Given the description of an element on the screen output the (x, y) to click on. 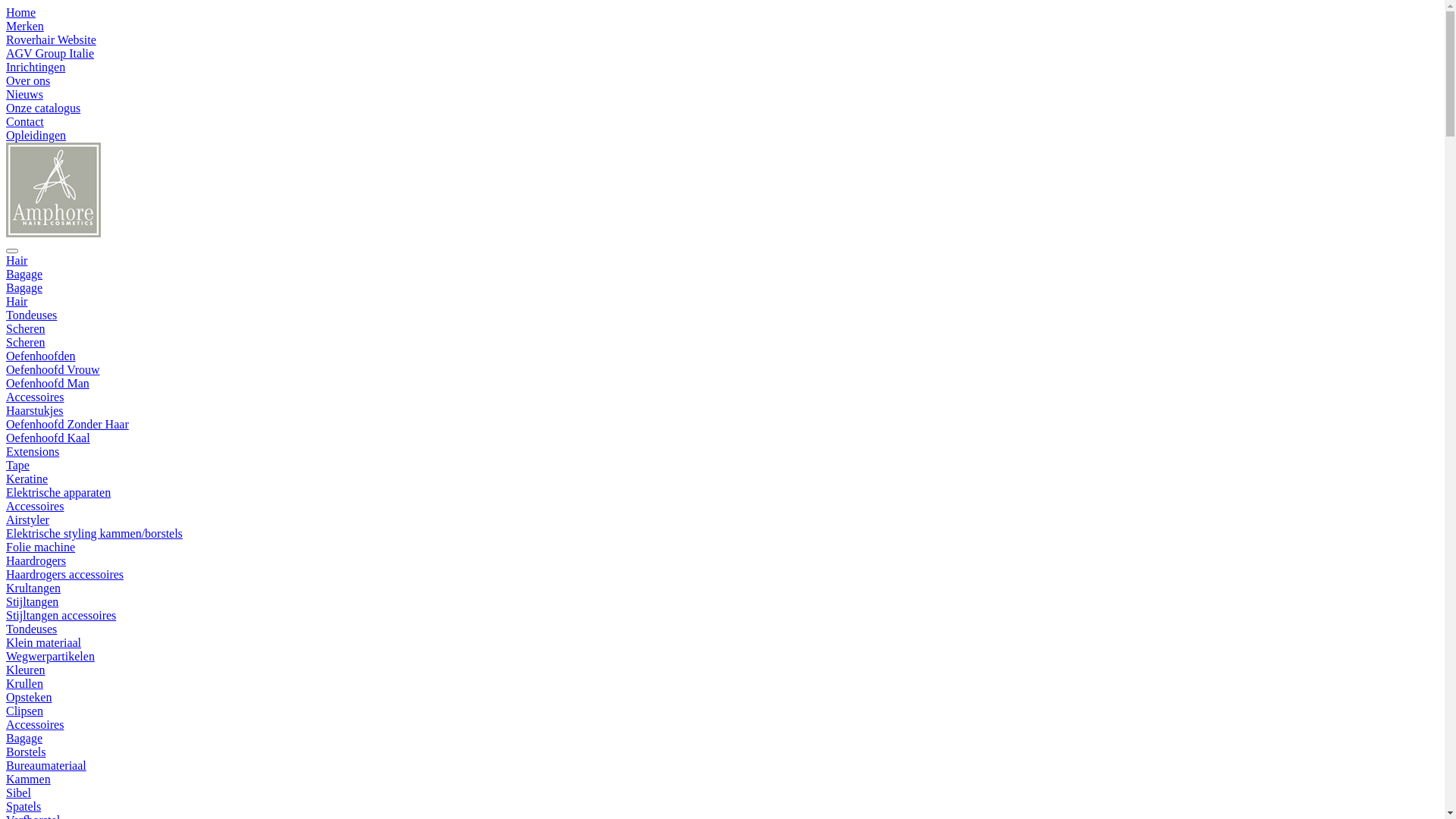
Tondeuses Element type: text (31, 628)
Borstels Element type: text (25, 751)
Accessoires Element type: text (34, 396)
Tondeuses Element type: text (31, 314)
Bureaumateriaal Element type: text (46, 765)
Hair Element type: text (16, 260)
Klein materiaal Element type: text (43, 642)
Wegwerpartikelen Element type: text (50, 655)
Kammen Element type: text (28, 778)
Oefenhoofden Element type: text (40, 355)
Oefenhoofd Zonder Haar Element type: text (67, 423)
Haardrogers accessoires Element type: text (64, 573)
Haardrogers Element type: text (35, 560)
Opleidingen Element type: text (35, 134)
Nieuws Element type: text (24, 93)
Clipsen Element type: text (24, 710)
Over ons Element type: text (28, 80)
Stijltangen accessoires Element type: text (61, 614)
Haarstukjes Element type: text (34, 410)
Airstyler Element type: text (27, 519)
Scheren Element type: text (25, 341)
Krullen Element type: text (24, 683)
Folie machine Element type: text (40, 546)
Stijltangen Element type: text (32, 601)
Kleuren Element type: text (25, 669)
Opsteken Element type: text (28, 696)
Tape Element type: text (17, 464)
Krultangen Element type: text (33, 587)
Spatels Element type: text (23, 806)
Extensions Element type: text (32, 451)
Accessoires Element type: text (34, 505)
Bagage Element type: text (24, 287)
Oefenhoofd Man Element type: text (47, 382)
Contact Element type: text (24, 121)
Merken Element type: text (24, 25)
AGV Group Italie Element type: text (50, 53)
Home Element type: text (20, 12)
Inrichtingen Element type: text (35, 66)
Sibel Element type: text (18, 792)
Elektrische apparaten Element type: text (58, 492)
Hair Element type: text (16, 300)
Oefenhoofd Kaal Element type: text (48, 437)
Bagage Element type: text (24, 737)
Onze catalogus Element type: text (43, 107)
Scheren Element type: text (25, 328)
Accessoires Element type: text (34, 724)
Bagage Element type: text (24, 273)
Keratine Element type: text (26, 478)
Oefenhoofd Vrouw Element type: text (53, 369)
Elektrische styling kammen/borstels Element type: text (94, 533)
Roverhair Website Element type: text (51, 39)
